Given the description of an element on the screen output the (x, y) to click on. 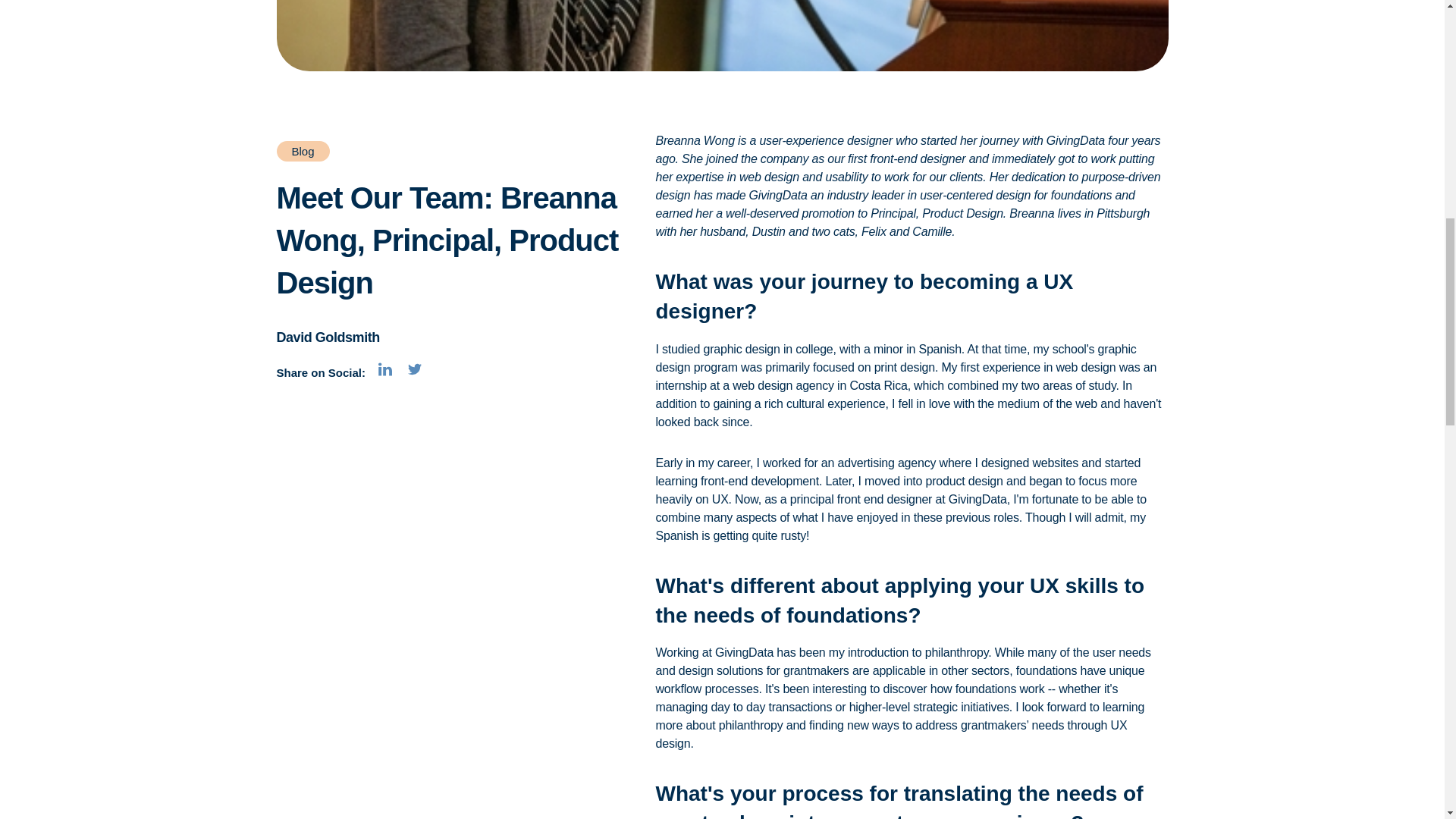
David Goldsmith (327, 337)
